Given the description of an element on the screen output the (x, y) to click on. 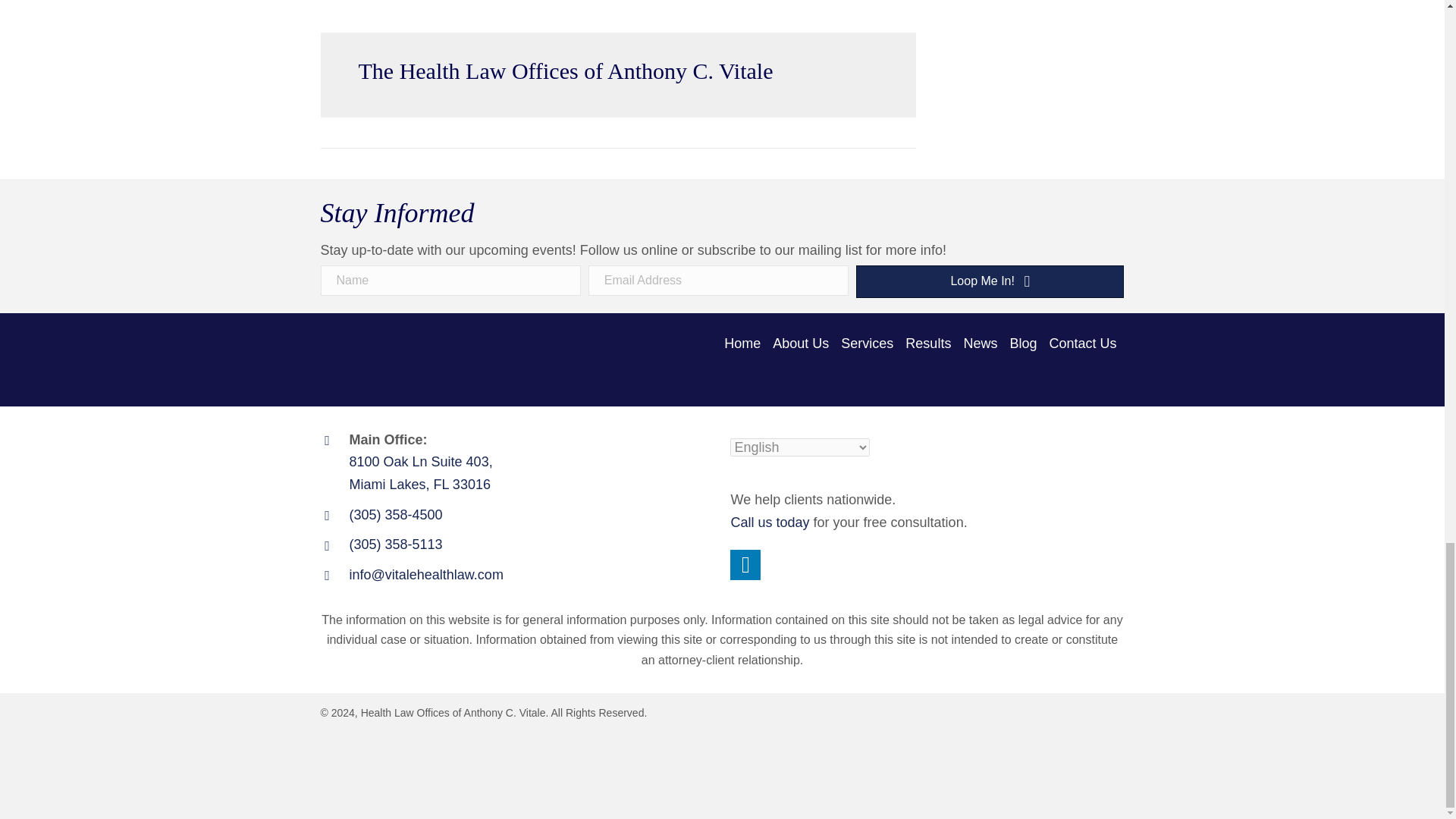
LinkedIn (745, 564)
Home (744, 344)
Services (869, 344)
Loop Me In! (990, 281)
About Us (801, 344)
